Given the description of an element on the screen output the (x, y) to click on. 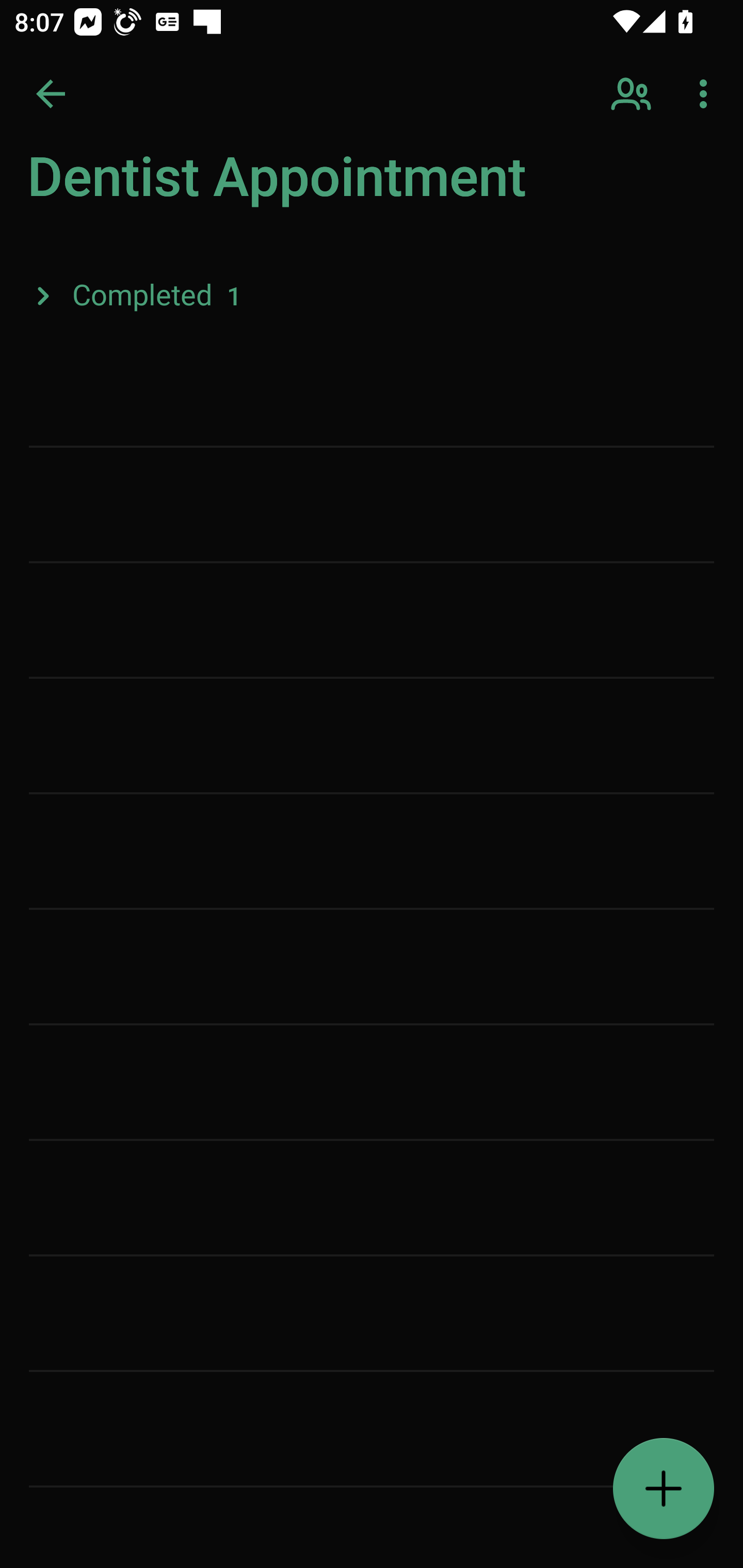
Back (50, 93)
Sharing options (632, 93)
More options (706, 93)
Completed, 1 item, Collapsed Completed 1 (371, 295)
Add a task (663, 1488)
